Given the description of an element on the screen output the (x, y) to click on. 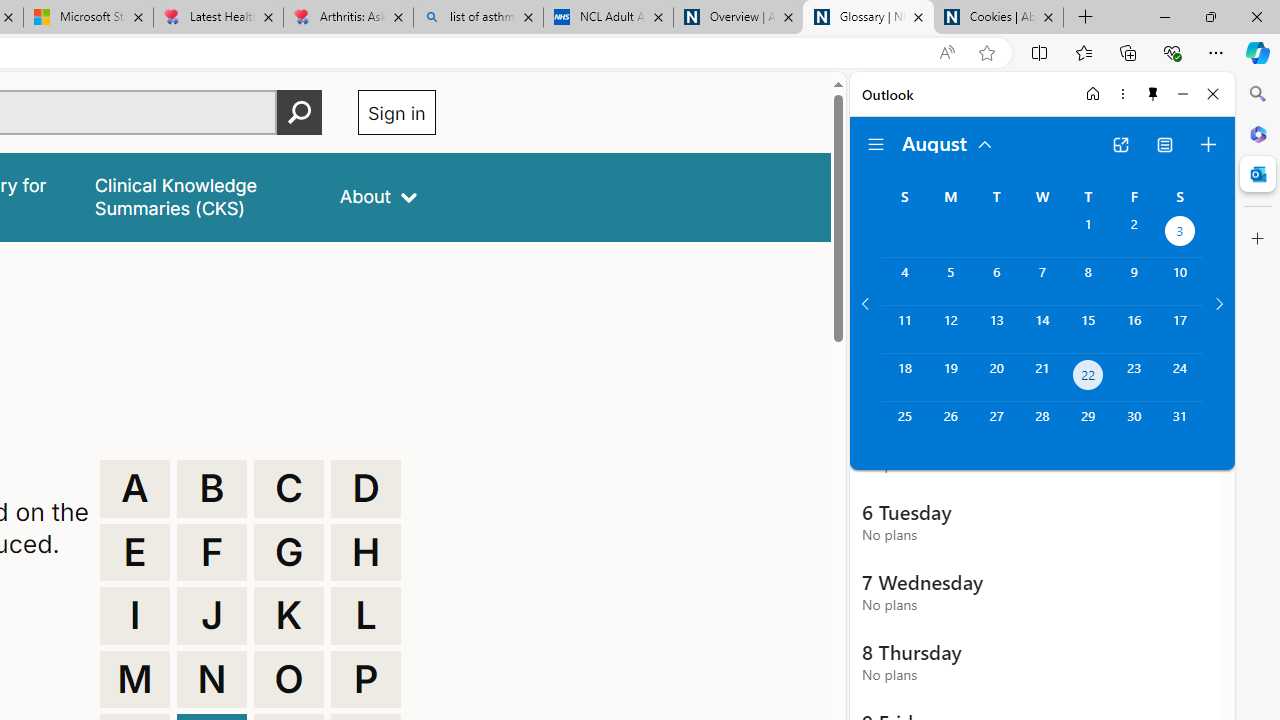
Thursday, August 8, 2024.  (1088, 281)
Close Customize pane (1258, 239)
P (365, 679)
Restore (1210, 16)
Tuesday, August 27, 2024.  (996, 425)
Wednesday, August 21, 2024.  (1042, 377)
L (365, 615)
Thursday, August 15, 2024.  (1088, 329)
F (212, 551)
C (289, 488)
Folder navigation (876, 144)
Arthritis: Ask Health Professionals (348, 17)
I (134, 615)
N (212, 679)
Open in new tab (1120, 144)
